Given the description of an element on the screen output the (x, y) to click on. 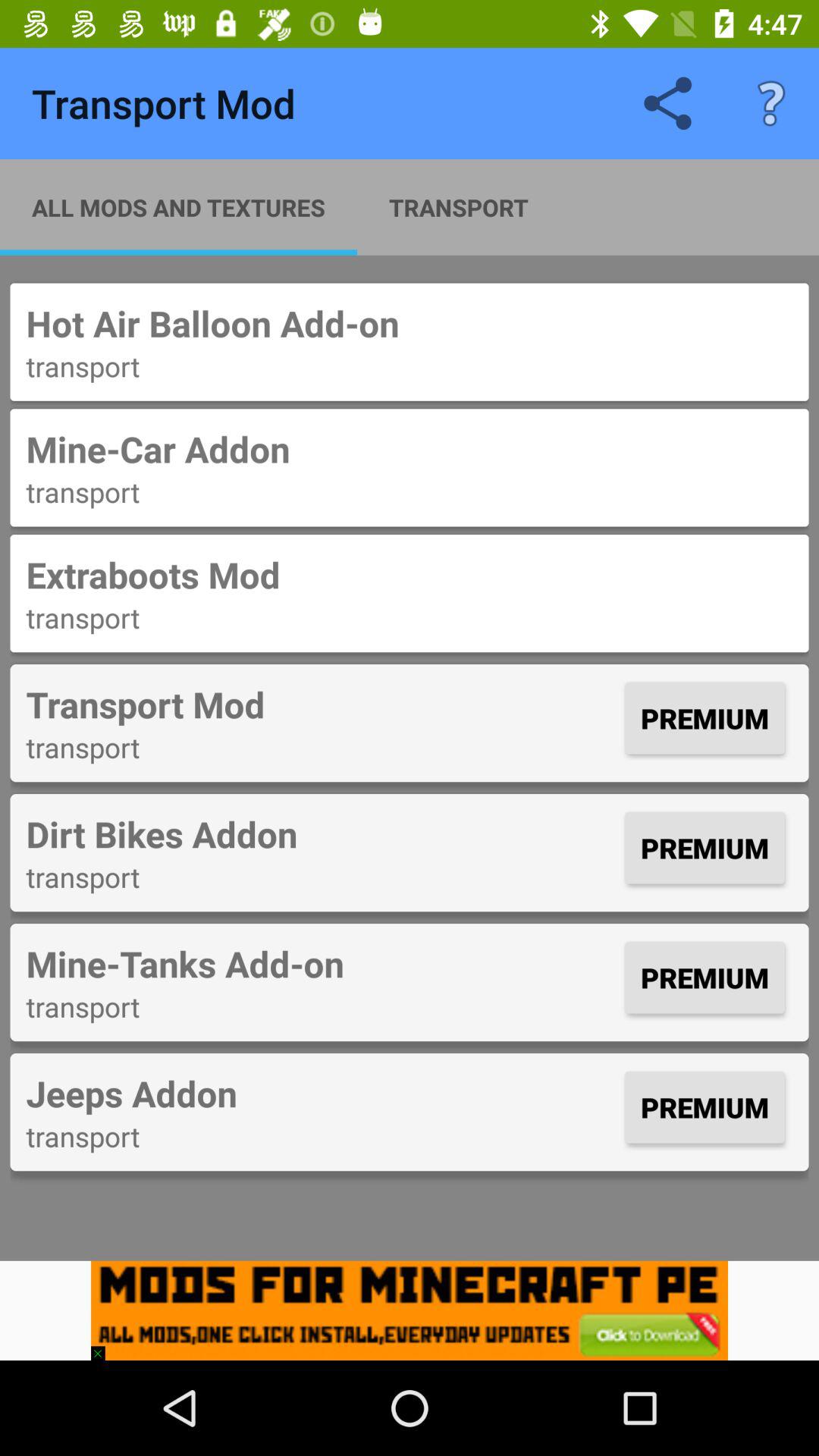
turn off the icon next to premium icon (321, 833)
